Given the description of an element on the screen output the (x, y) to click on. 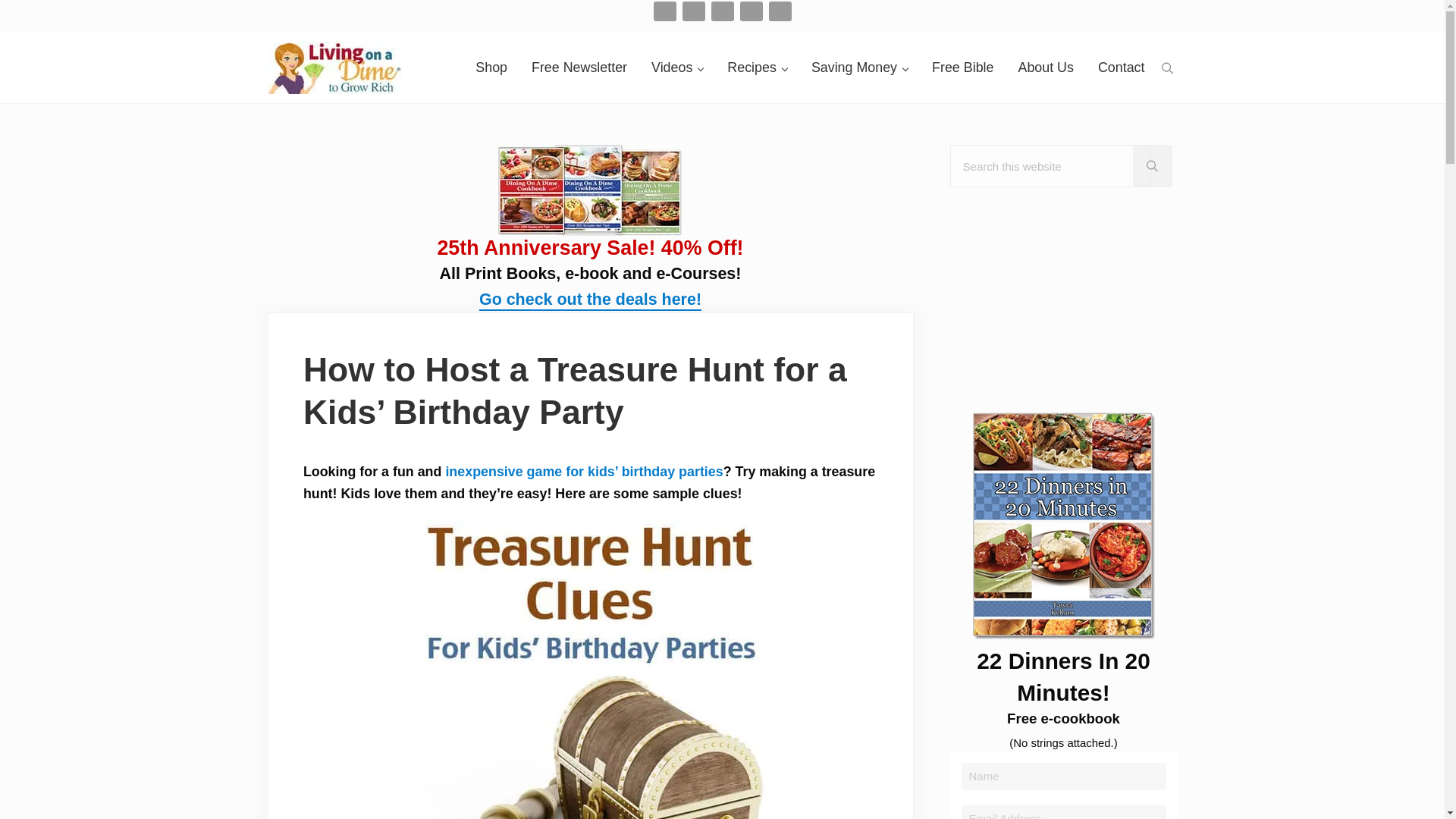
Pinterest (751, 11)
YouTube (780, 11)
Recipes (756, 67)
Free Newsletter (579, 67)
Shop (491, 67)
YouTube (780, 11)
Instagram (722, 11)
Email (664, 11)
Facebook (693, 11)
Email (665, 11)
Pinterest (750, 11)
Instagram (722, 11)
Facebook (693, 11)
Videos (676, 67)
